Given the description of an element on the screen output the (x, y) to click on. 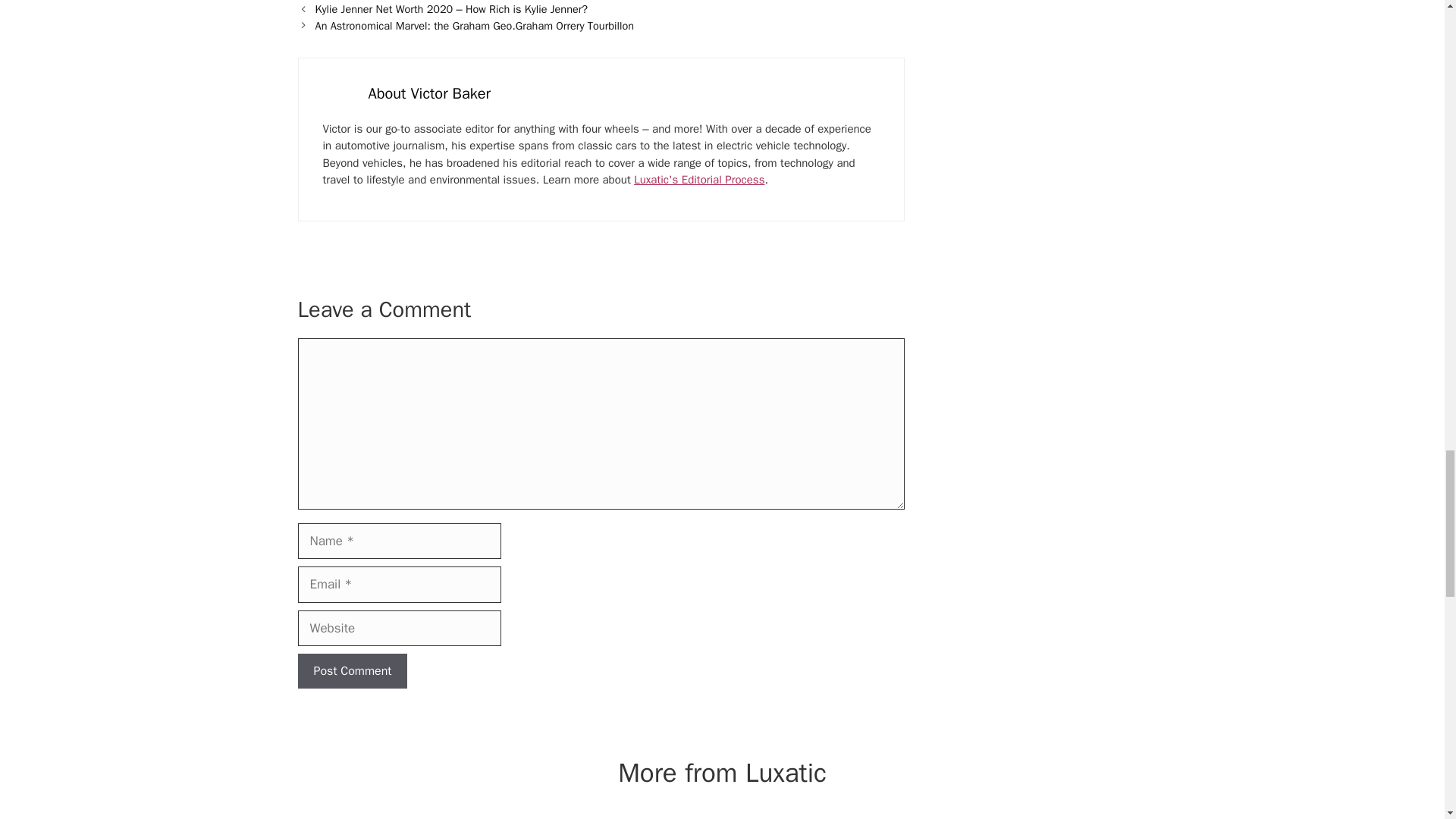
editorial guidelines (698, 179)
Post Comment (352, 670)
Read more (429, 93)
